Given the description of an element on the screen output the (x, y) to click on. 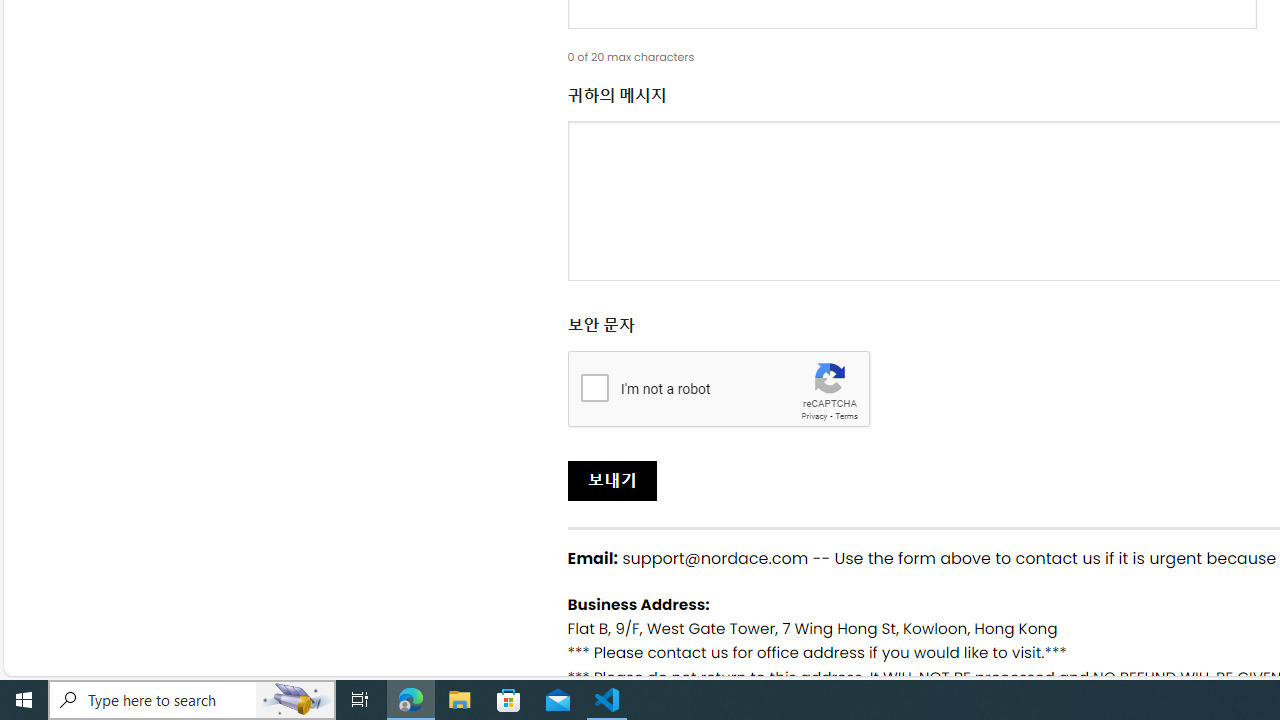
I'm not a robot (594, 386)
Terms (846, 416)
Privacy (814, 416)
